Given the description of an element on the screen output the (x, y) to click on. 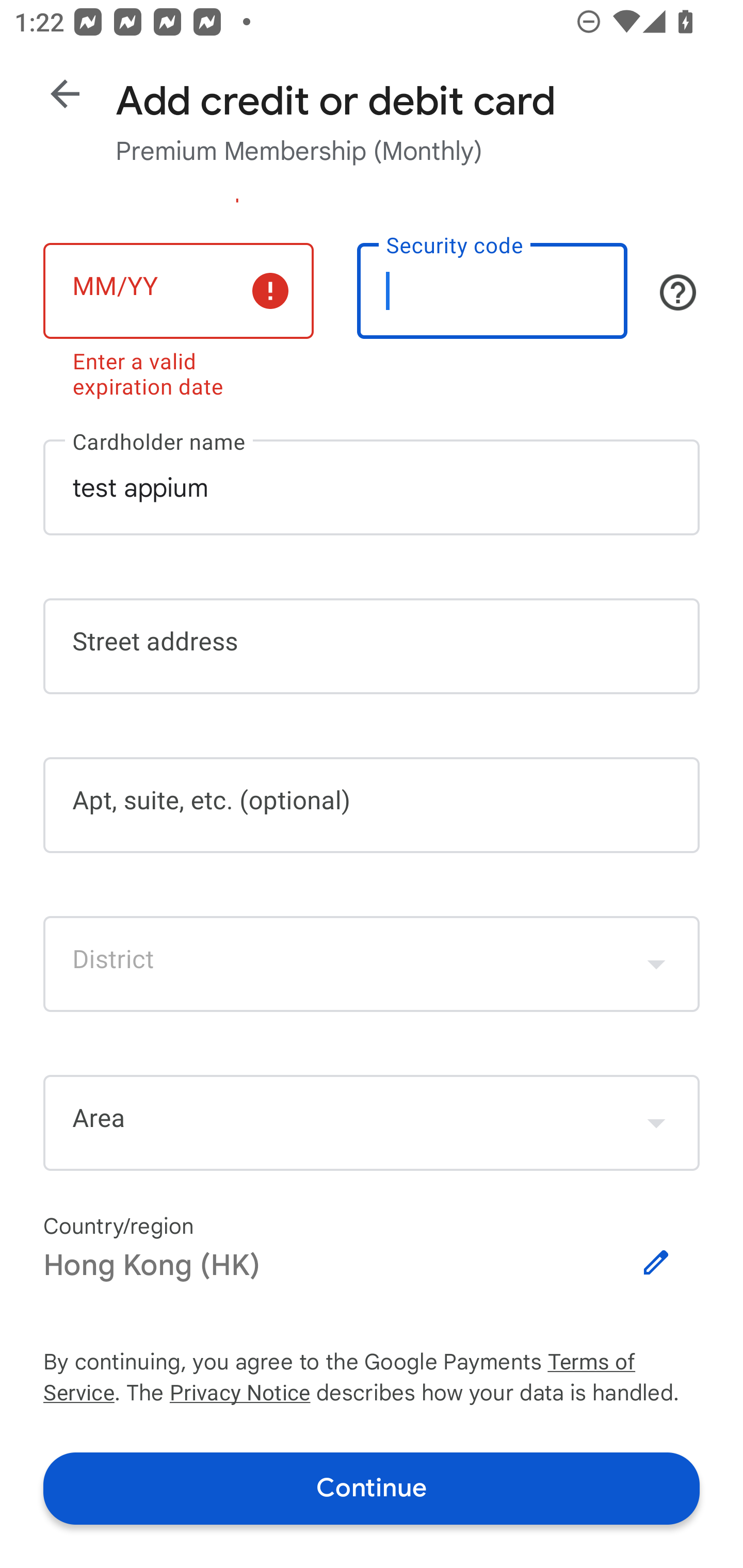
Back (64, 93)
Expiration date, 2 digit month, 2 digit year (178, 290)
Security code (492, 290)
Security code help (677, 292)
test appium (371, 486)
Street address (371, 646)
Apt, suite, etc. (optional) (371, 804)
District (371, 963)
Show dropdown menu (655, 963)
Area (371, 1123)
Show dropdown menu (655, 1122)
country edit button (655, 1262)
Terms of Service (623, 1362)
Privacy Notice (239, 1394)
Continue (371, 1487)
